Given the description of an element on the screen output the (x, y) to click on. 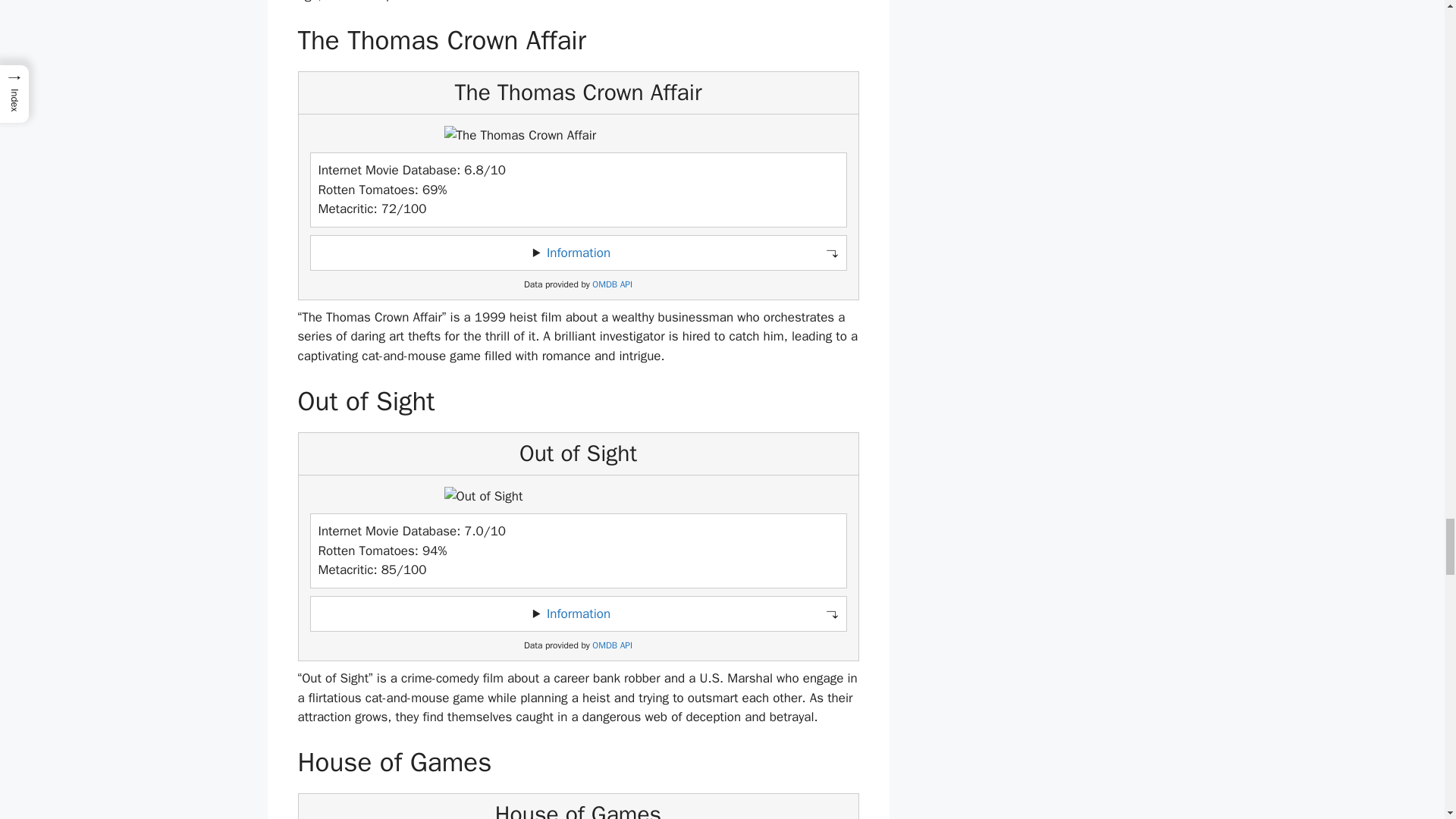
OMDB API (611, 645)
Information (578, 252)
OMDB API (611, 284)
Information (578, 613)
